Given the description of an element on the screen output the (x, y) to click on. 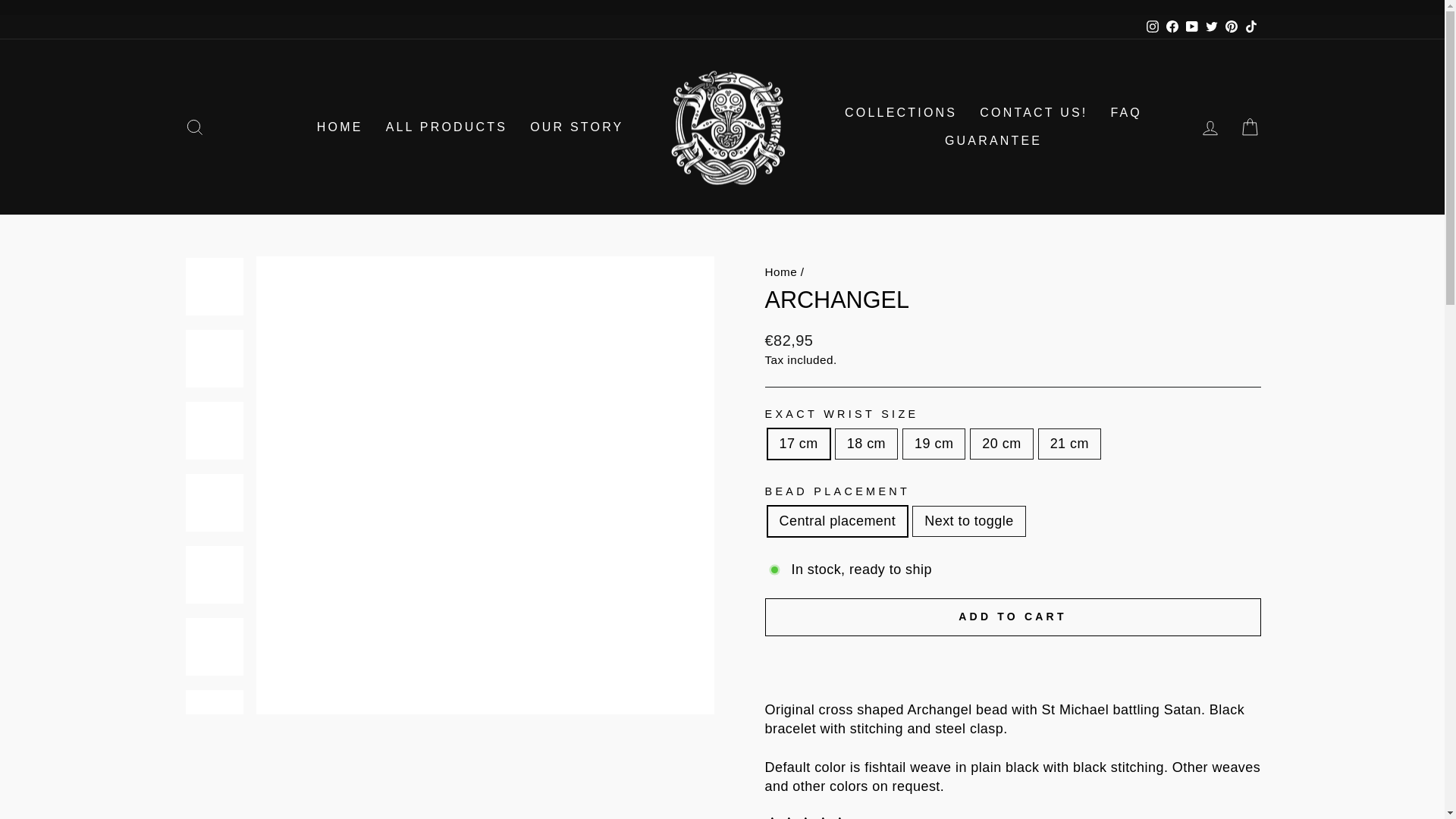
ALL PRODUCTS (446, 126)
SEARCH (194, 126)
LOG IN (1210, 126)
CONTACT US! (1033, 113)
OUR STORY (576, 126)
